Given the description of an element on the screen output the (x, y) to click on. 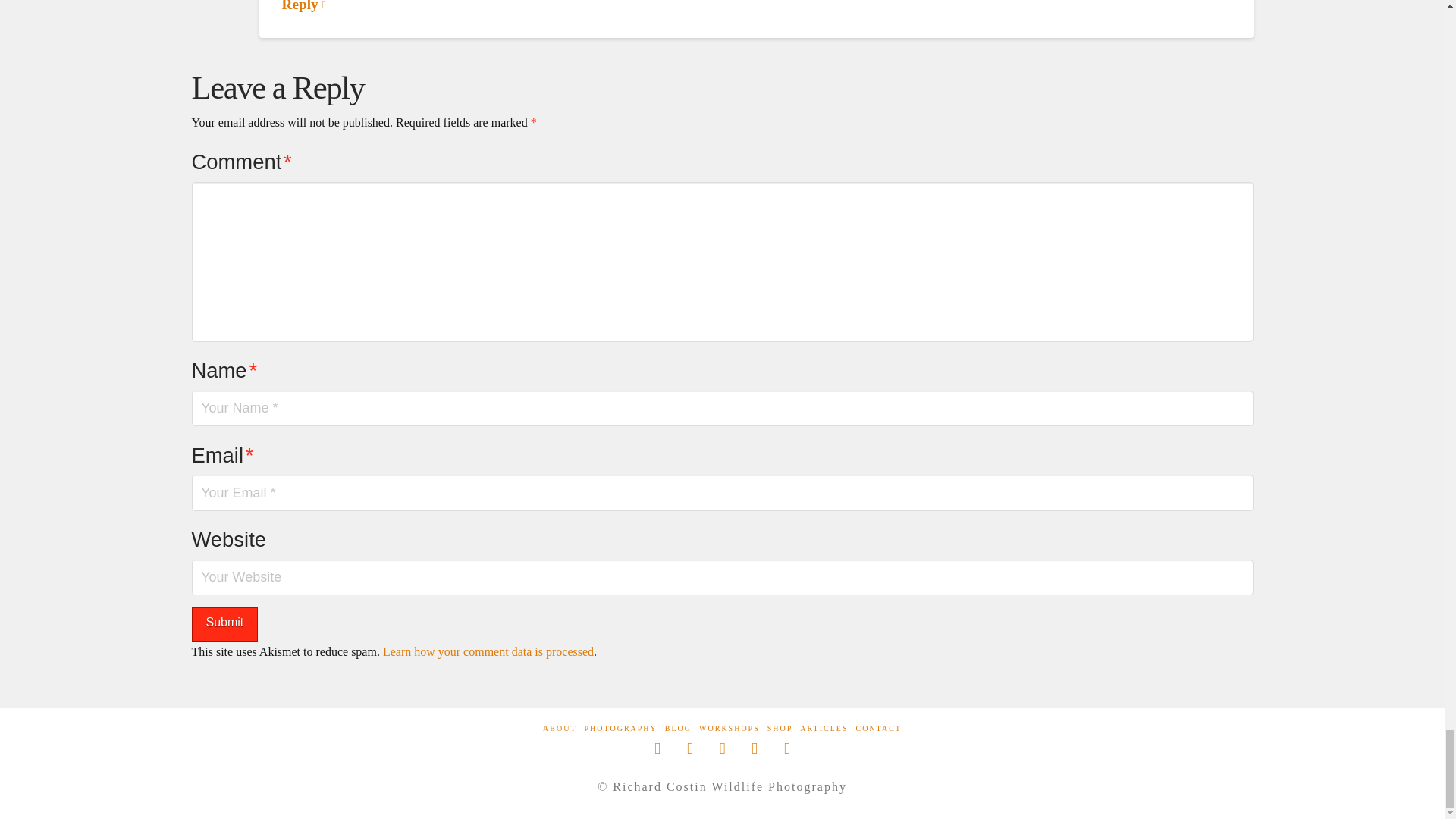
Reply (304, 6)
Submit (223, 624)
